Given the description of an element on the screen output the (x, y) to click on. 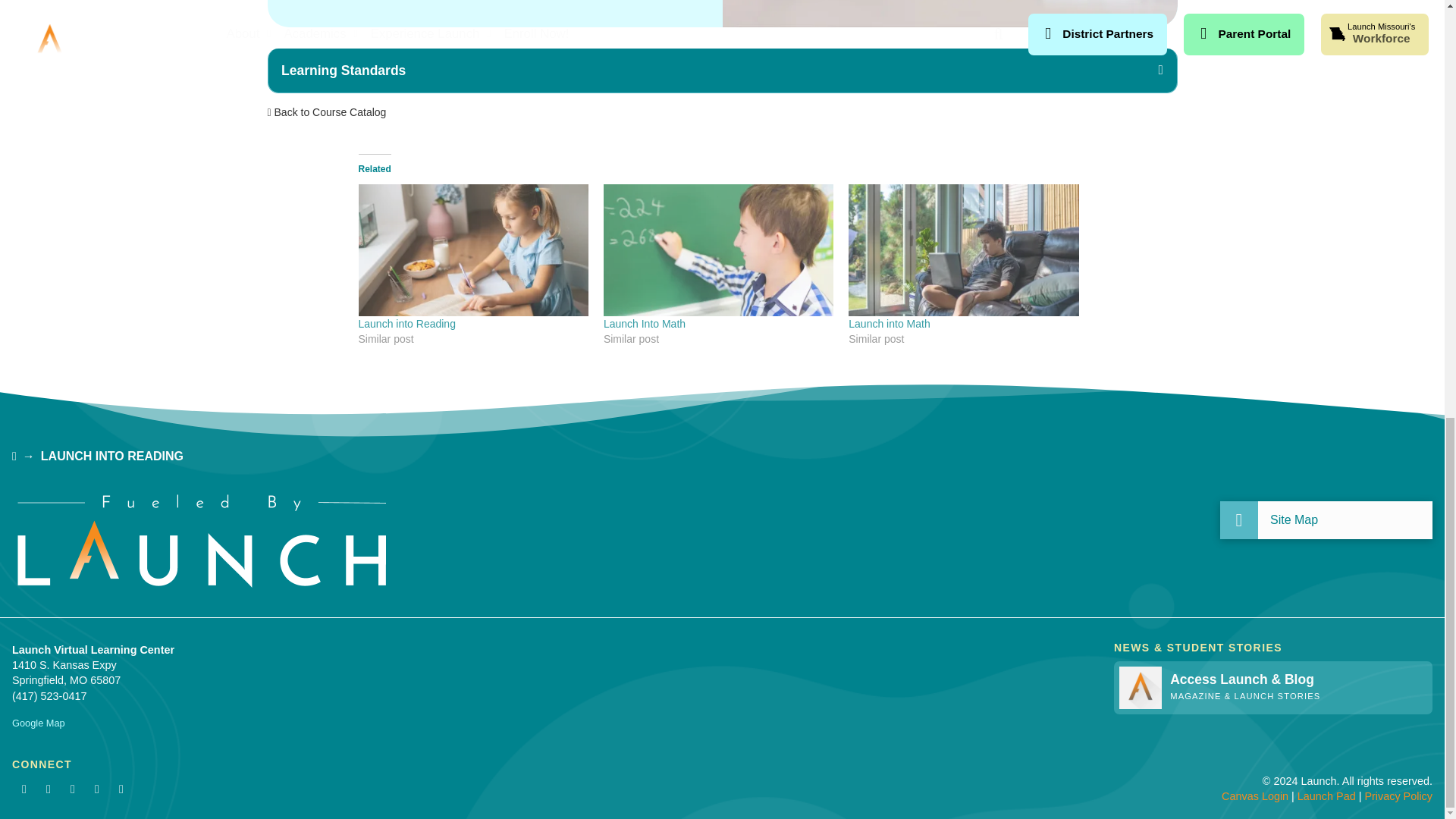
Launch into Reading (406, 323)
Back to Course Catalog (325, 111)
LAUNCH INTO READING (111, 456)
Learning Standards (721, 70)
Launch Into Math (718, 249)
Launch Into Math (644, 323)
Launch into Reading (406, 323)
Launch into Math (889, 323)
You Are Here (111, 456)
Launch into Math (889, 323)
HOME (13, 456)
Launch into Math (963, 249)
Launch Into Math (644, 323)
Launch into Reading (473, 249)
